Given the description of an element on the screen output the (x, y) to click on. 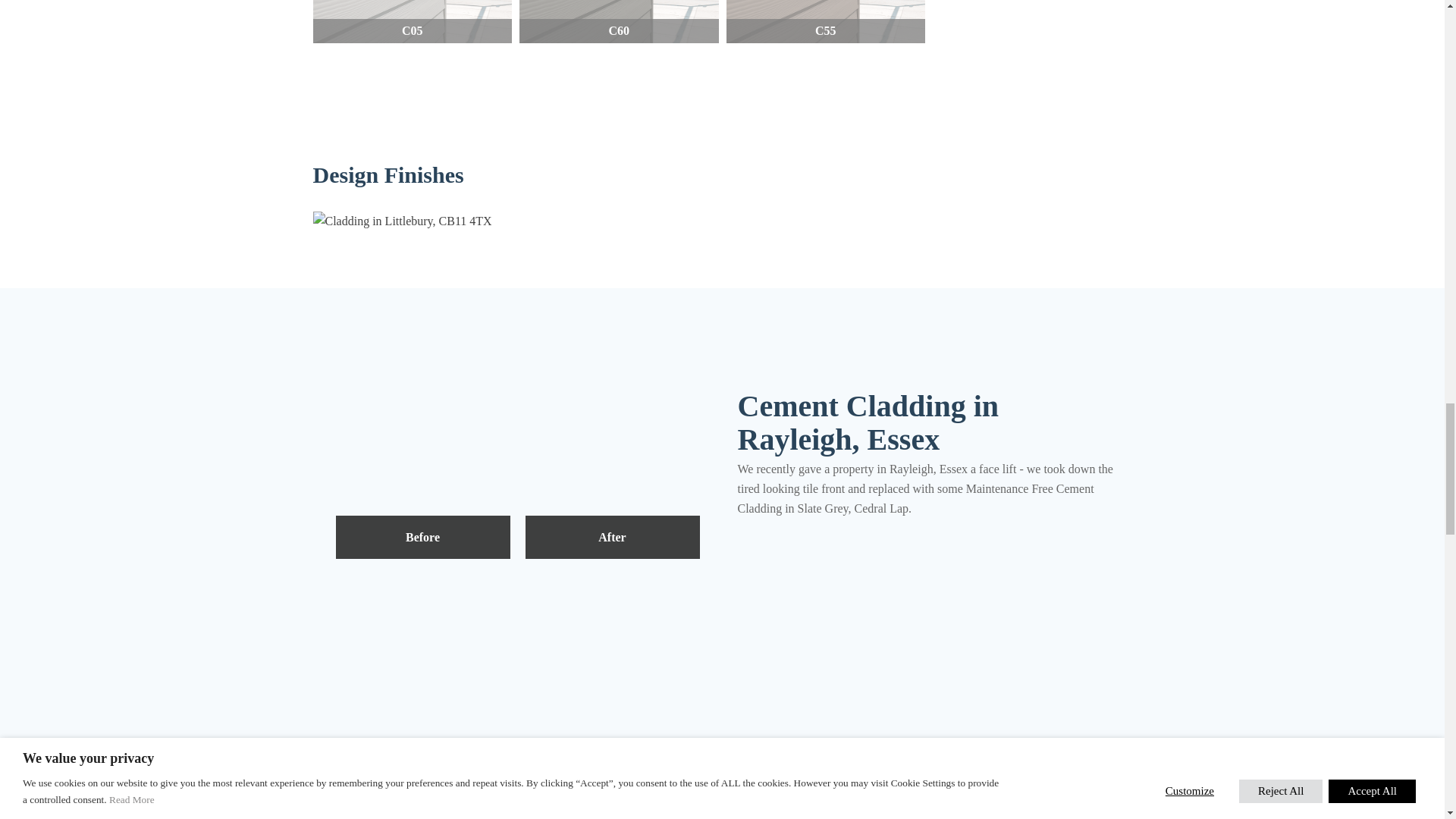
C55 (826, 22)
C05 (412, 22)
C60 (619, 22)
